Given the description of an element on the screen output the (x, y) to click on. 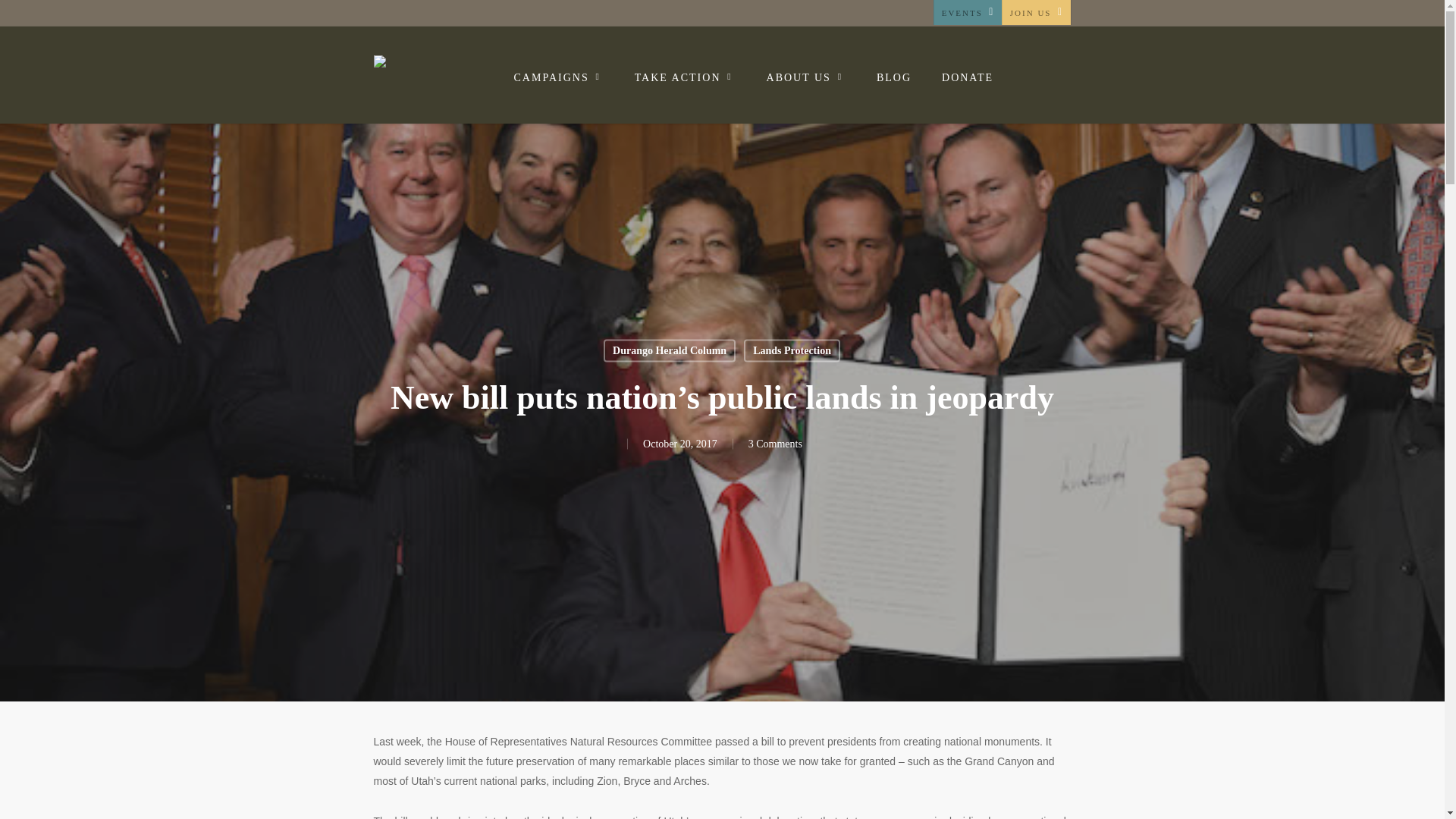
JOIN US (1035, 12)
EVENTS (967, 12)
CAMPAIGNS (559, 77)
